Given the description of an element on the screen output the (x, y) to click on. 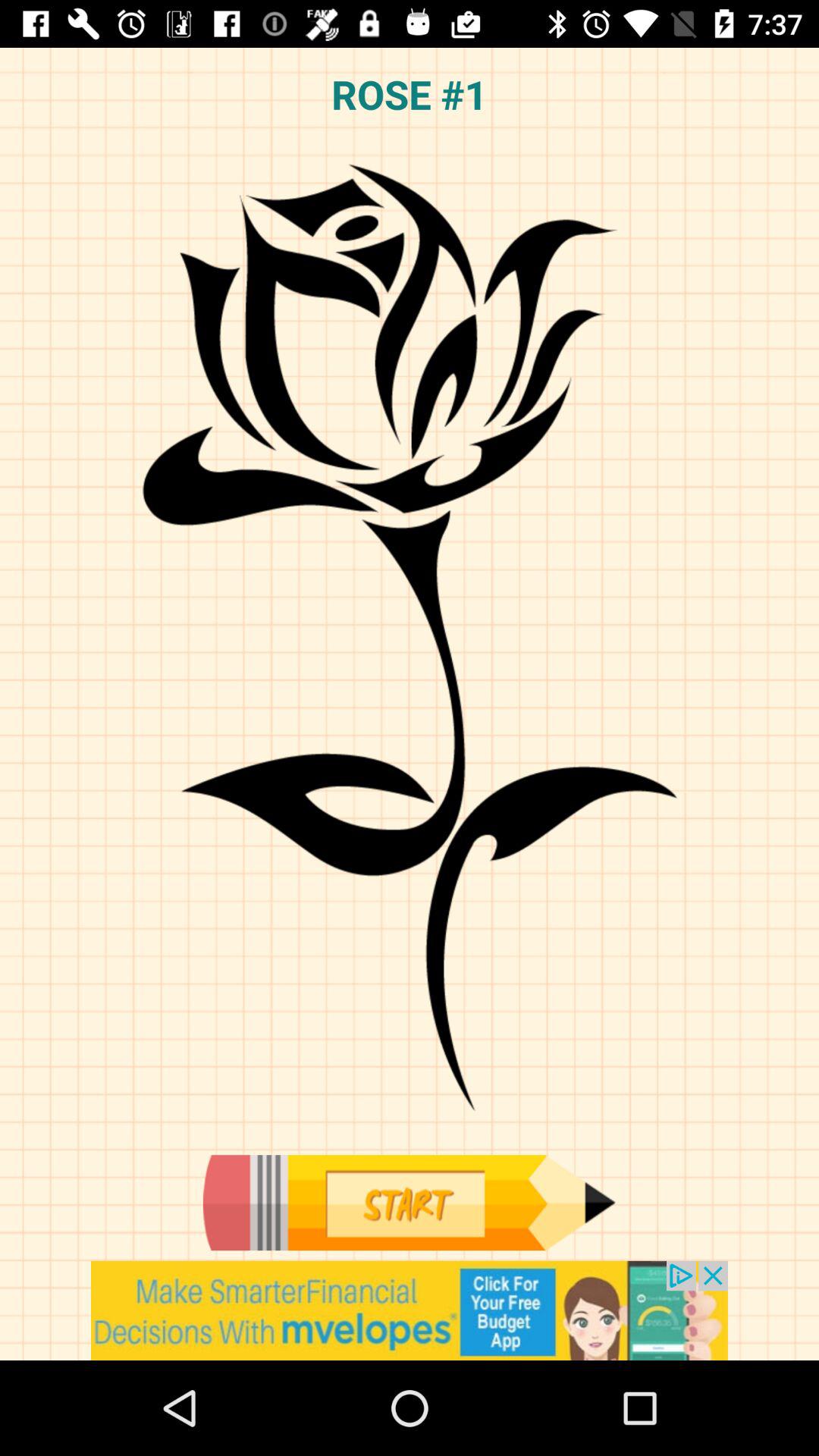
start program (409, 1202)
